Given the description of an element on the screen output the (x, y) to click on. 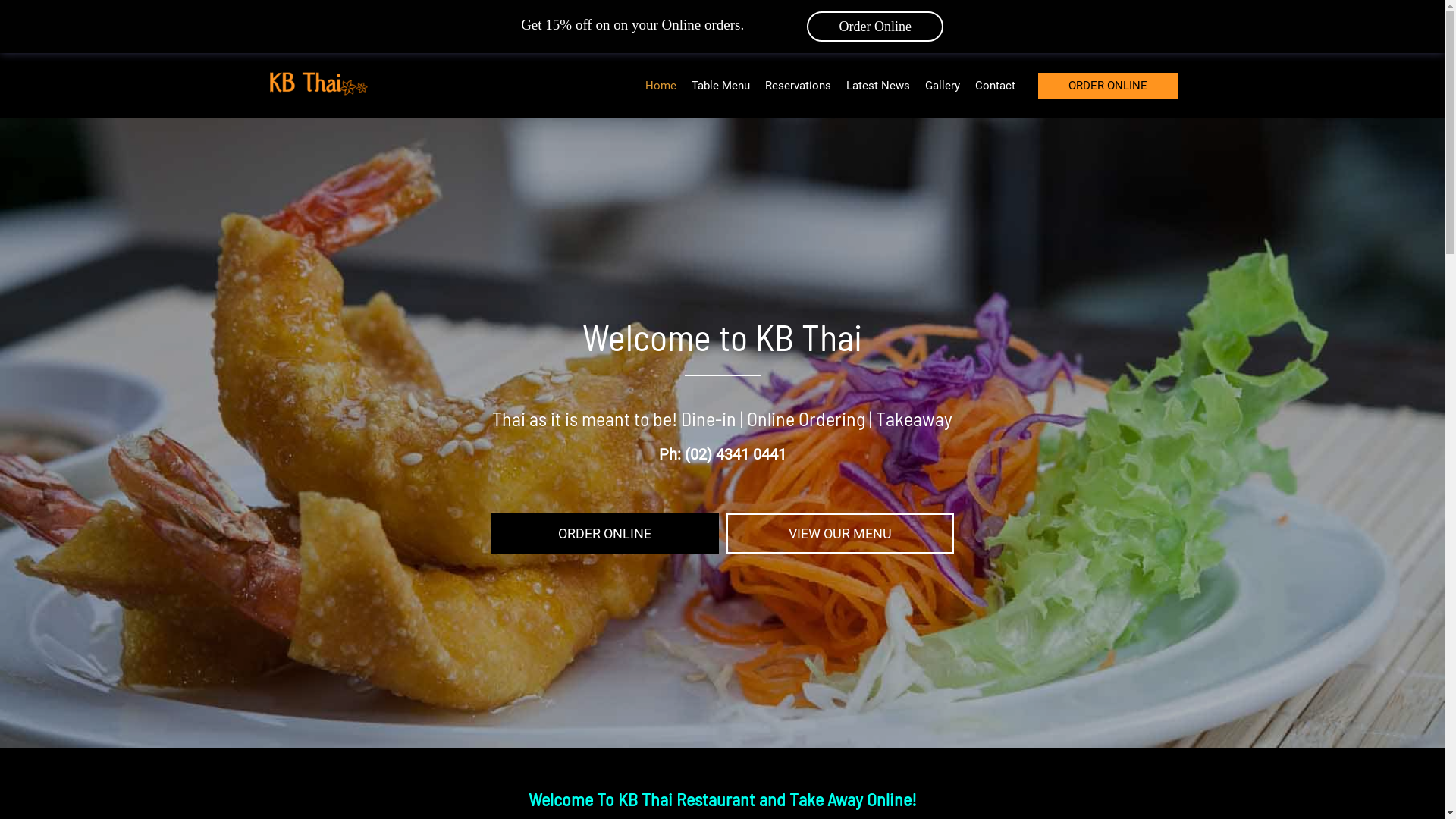
Latest News Element type: text (877, 85)
VIEW OUR MENU Element type: text (839, 533)
Gallery Element type: text (942, 85)
Table Menu Element type: text (720, 85)
Contact Element type: text (994, 85)
Home Element type: text (660, 85)
Reservations Element type: text (796, 85)
ORDER ONLINE Element type: text (604, 533)
Order Online Element type: text (874, 26)
ORDER ONLINE Element type: text (1106, 85)
